Given the description of an element on the screen output the (x, y) to click on. 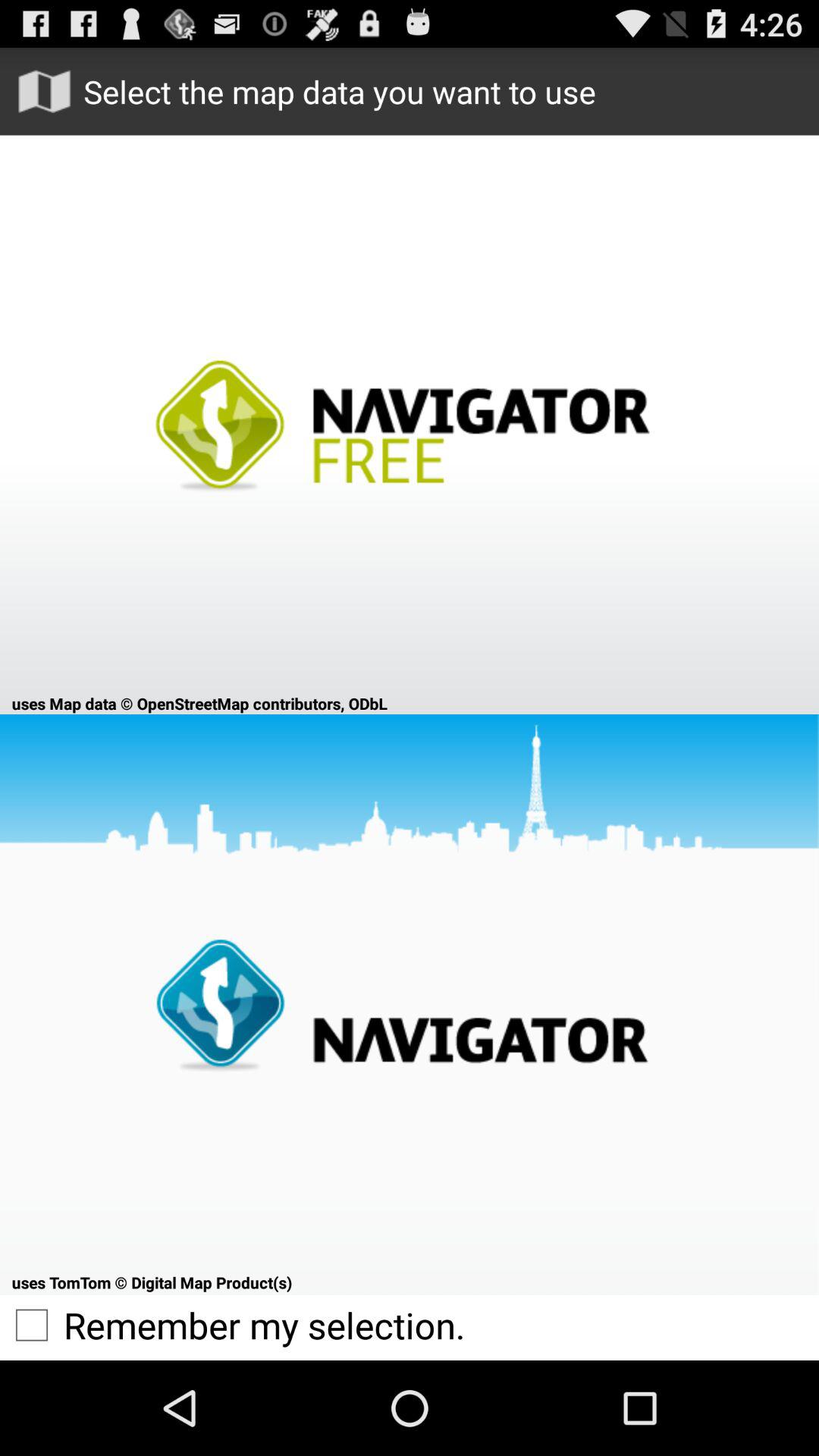
map data navigator at bottom (409, 1004)
